Given the description of an element on the screen output the (x, y) to click on. 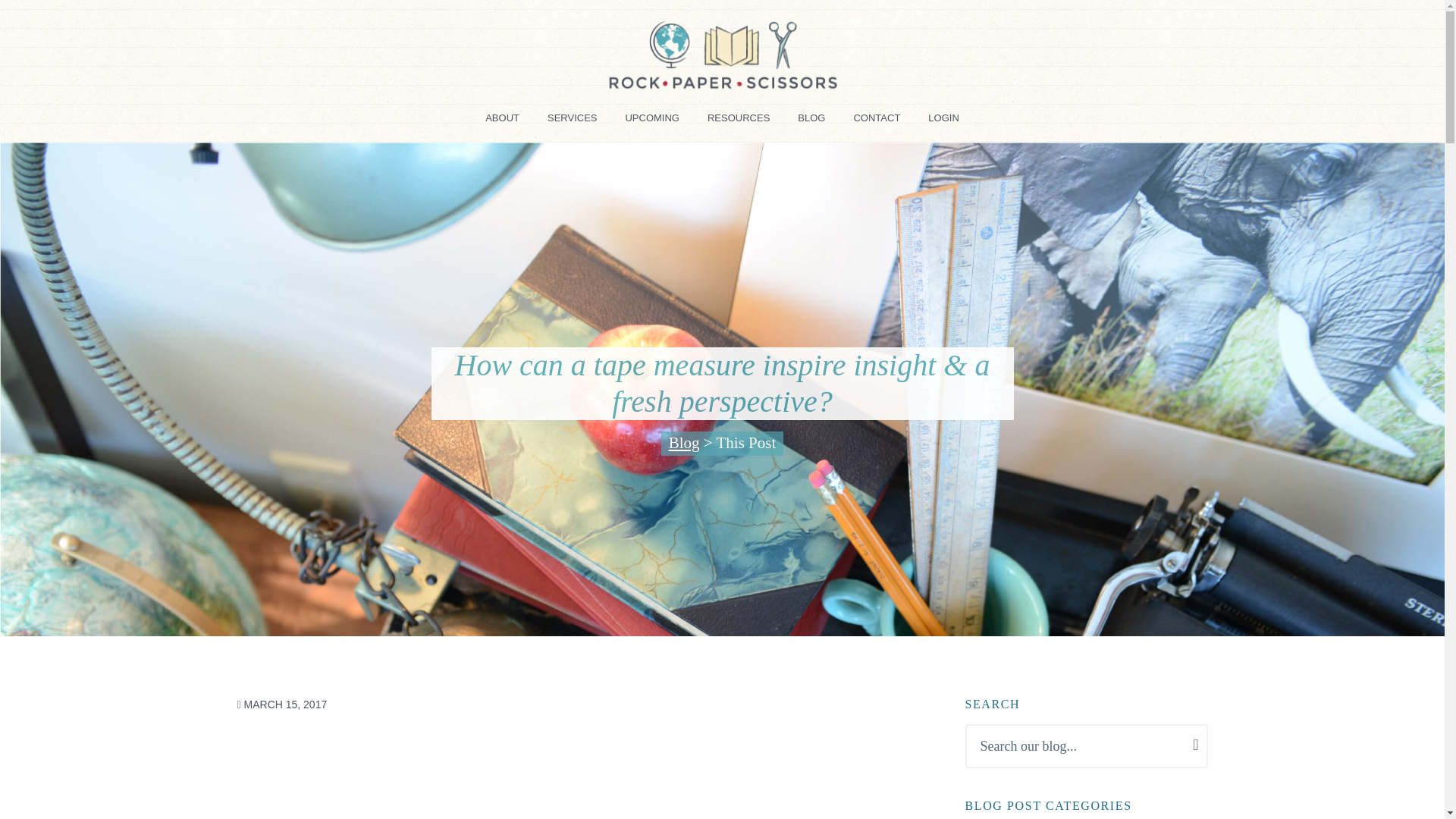
Search (85, 20)
Blog (684, 443)
SERVICES (572, 122)
UPCOMING (651, 122)
CONTACT (876, 122)
ROCK PAPER SCISSORS (310, 109)
LOGIN (943, 122)
ABOUT (502, 122)
RESOURCES (739, 122)
BLOG (812, 122)
